Given the description of an element on the screen output the (x, y) to click on. 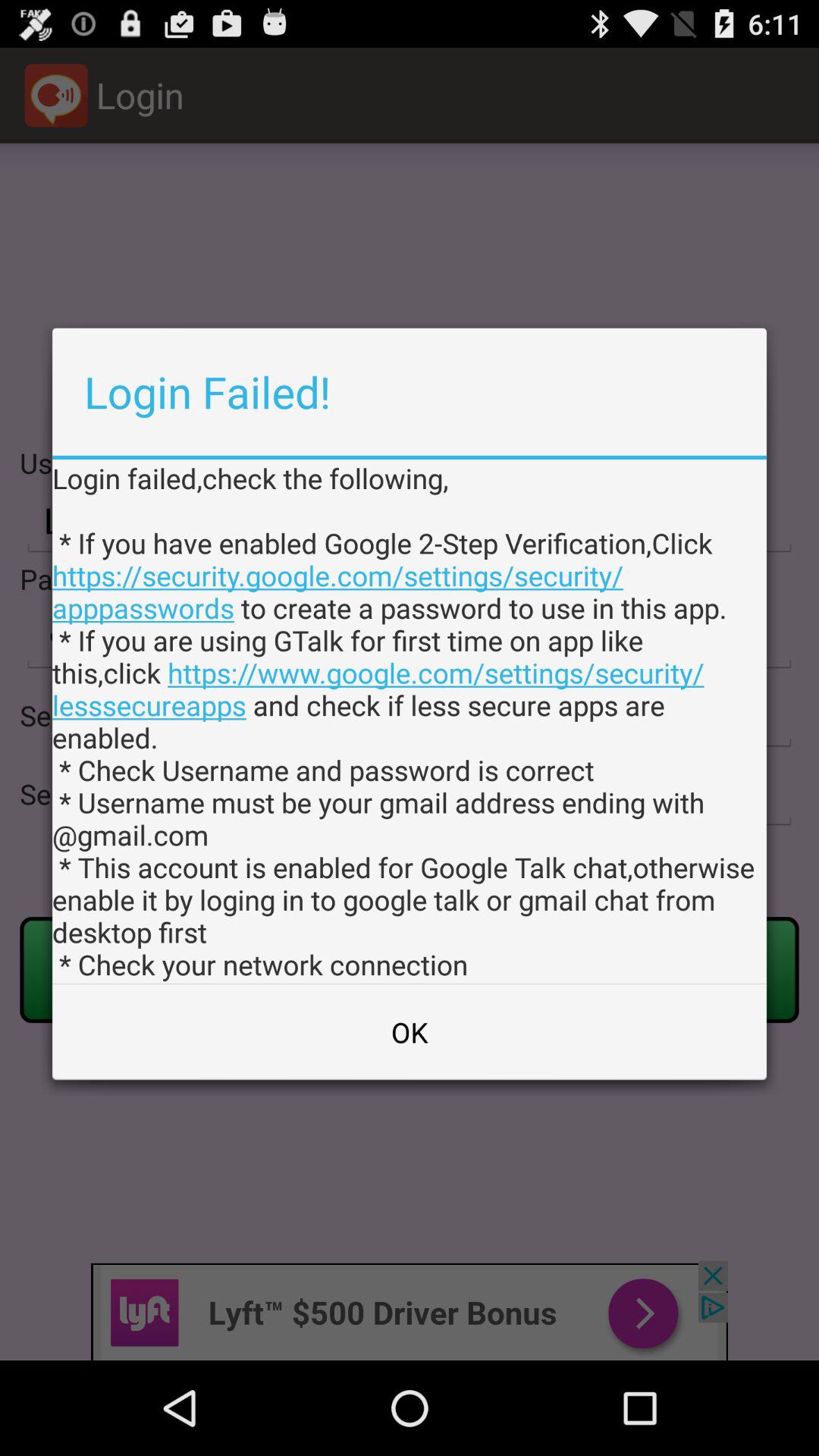
tap ok item (409, 1032)
